Given the description of an element on the screen output the (x, y) to click on. 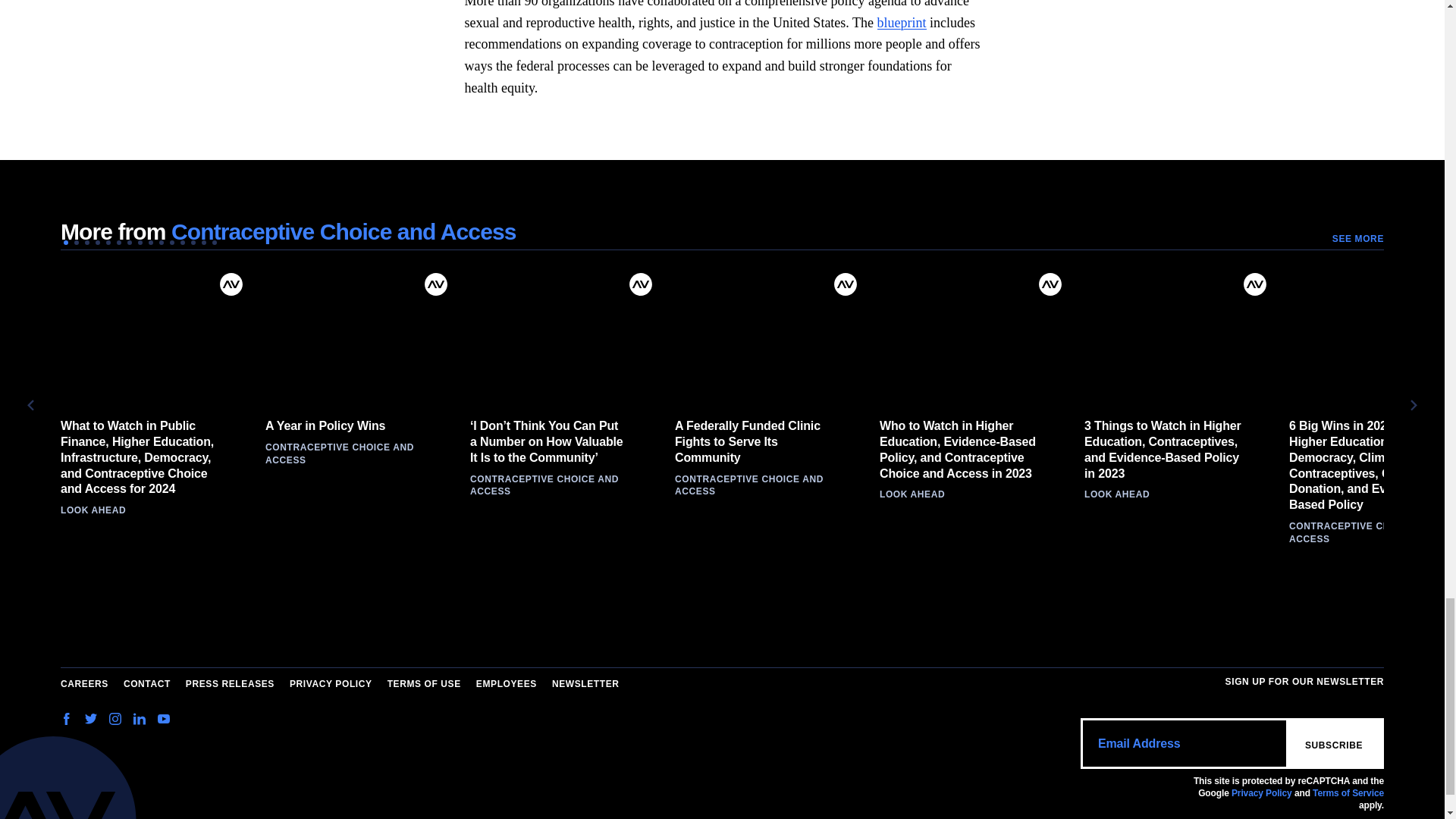
Contraceptive Choice and Access (343, 231)
blueprint (901, 22)
A Year in Policy Wins (359, 336)
Subscribe (1333, 743)
SEE MORE (1358, 238)
A Year in Policy Wins (345, 426)
